Given the description of an element on the screen output the (x, y) to click on. 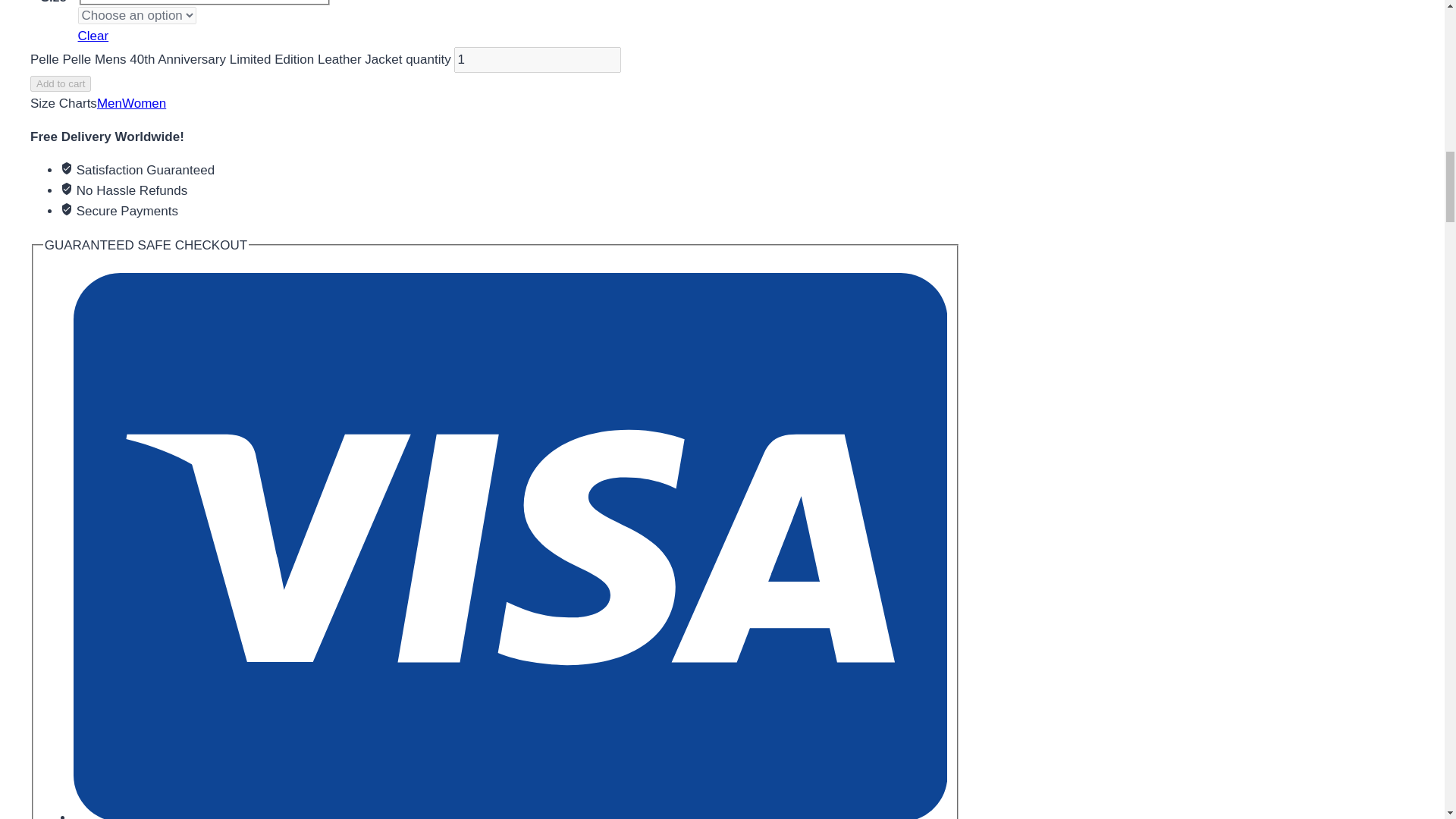
Check Mark (66, 168)
Check Mark (66, 209)
1 (537, 59)
Check Mark (66, 188)
Add to cart (60, 83)
Clear (93, 35)
